Given the description of an element on the screen output the (x, y) to click on. 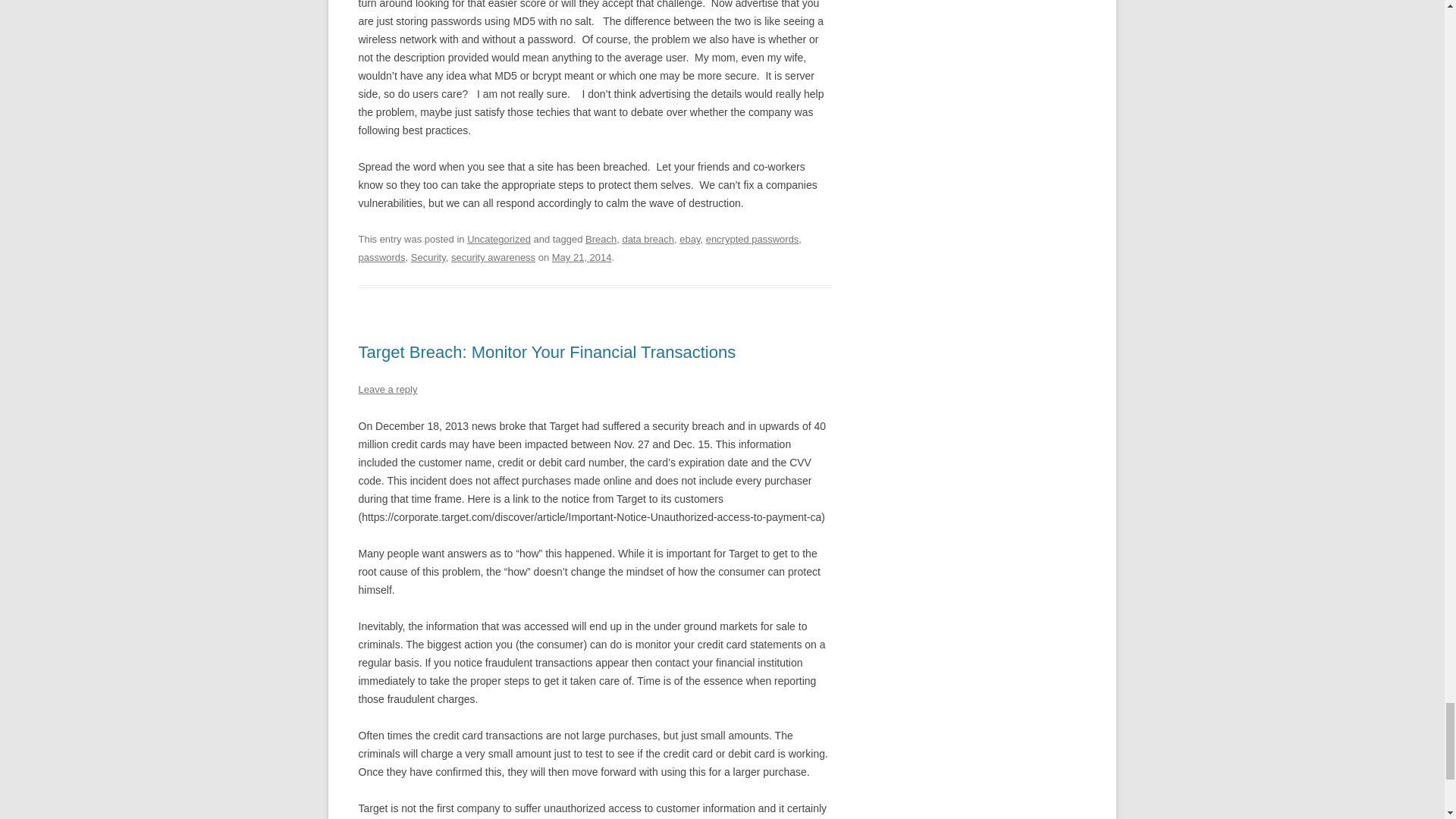
10:35 pm (581, 256)
